Given the description of an element on the screen output the (x, y) to click on. 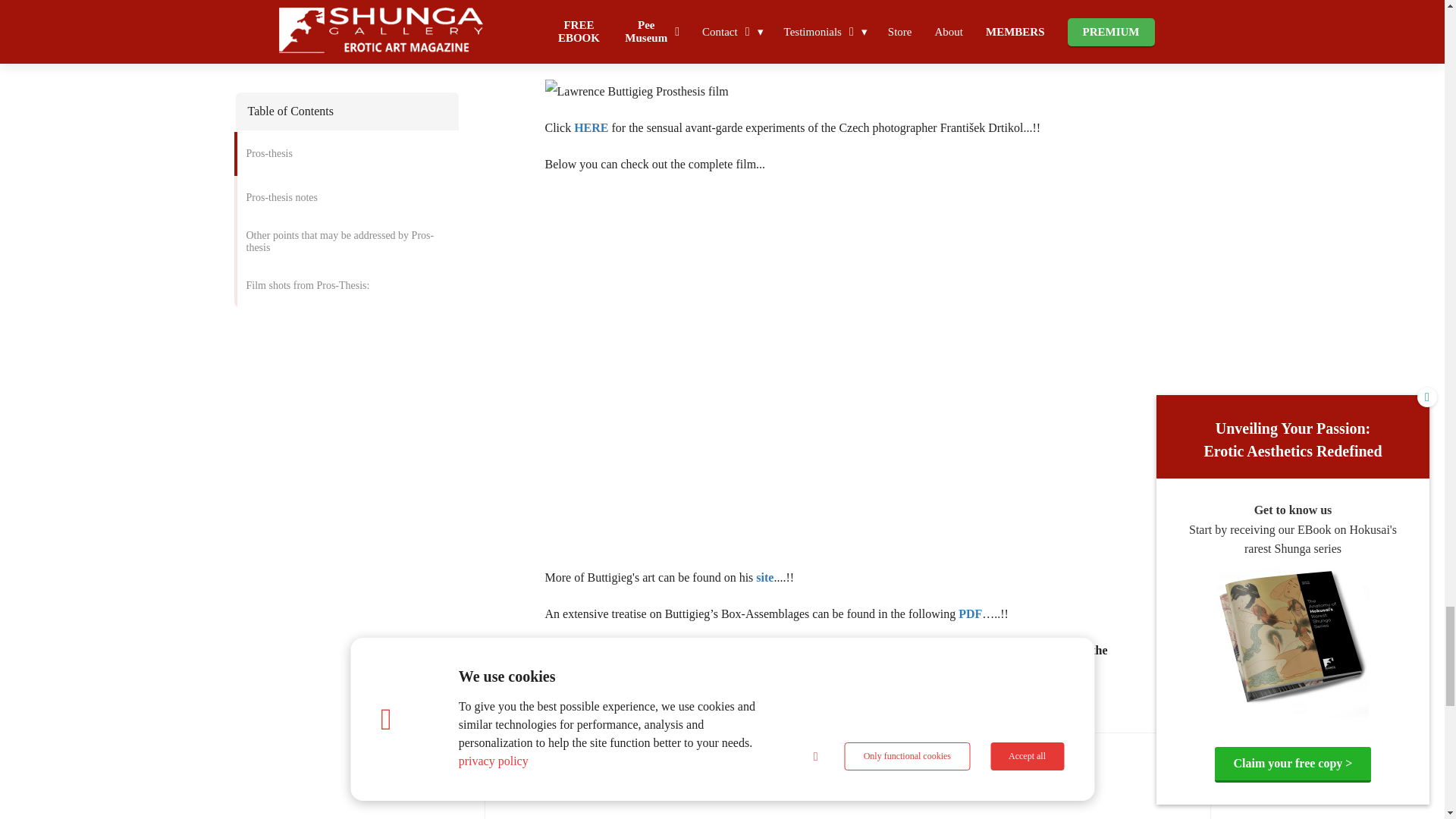
Lawrence Buttigieg Prosthesis film (636, 91)
Lawrence Buttigieg Prosthesis (624, 55)
Lawrence Buttigieg film (609, 18)
